Given the description of an element on the screen output the (x, y) to click on. 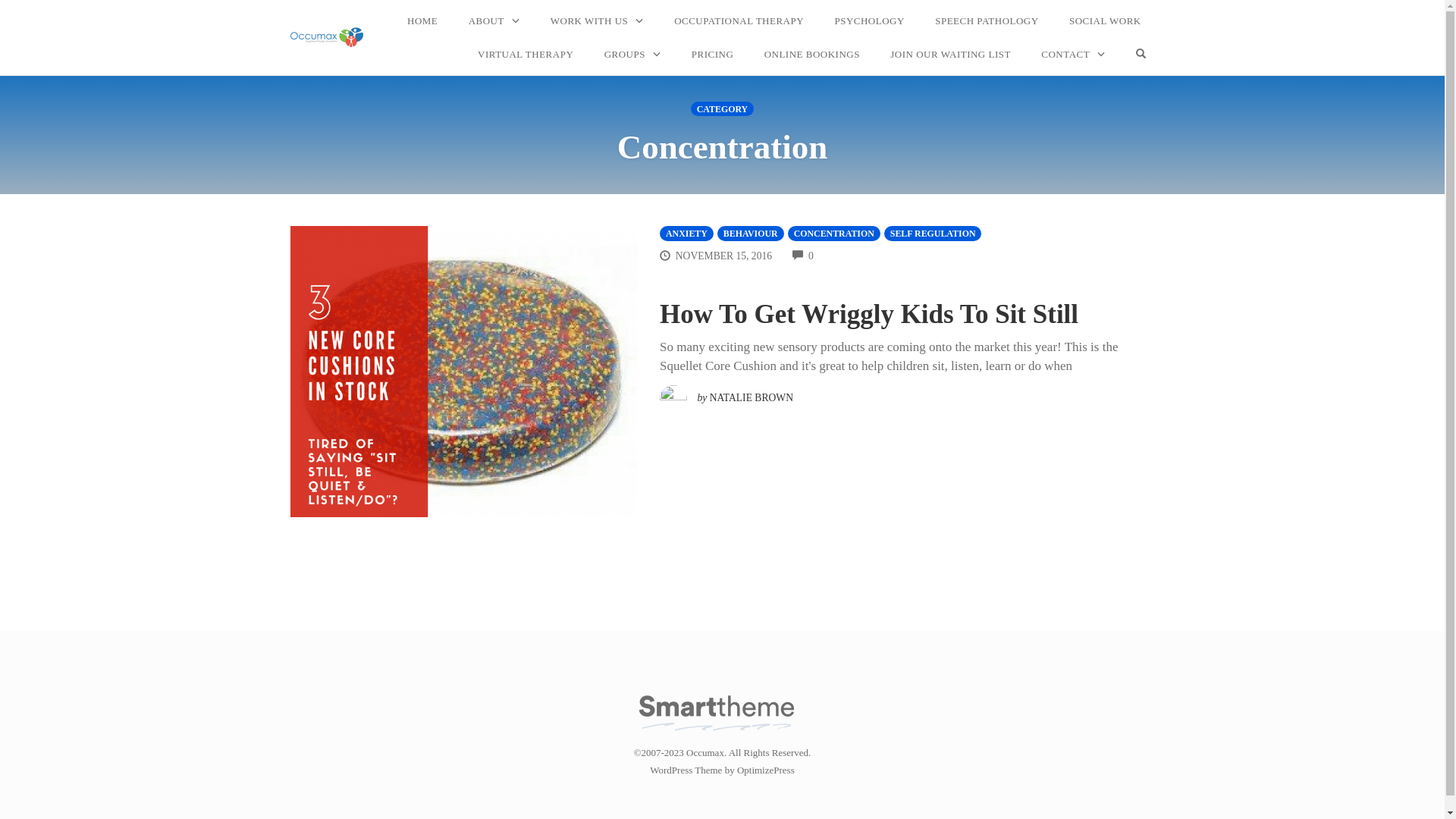
SPEECH PATHOLOGY Element type: text (986, 20)
JOIN OUR WAITING LIST Element type: text (950, 54)
OCCUPATIONAL THERAPY Element type: text (738, 20)
How To Get Wriggly Kids To Sit Still Element type: text (868, 314)
WORK WITH US Element type: text (597, 20)
GROUPS Element type: text (632, 54)
PRICING Element type: text (712, 54)
Occumax Element type: hover (716, 709)
OPEN SEARCH FORM Element type: text (1140, 54)
BEHAVIOUR Element type: text (750, 232)
ONLINE BOOKINGS Element type: text (812, 54)
CONTACT Element type: text (1072, 54)
by NATALIE BROWN Element type: text (726, 393)
ABOUT Element type: text (494, 20)
0
COMMENTS Element type: text (802, 255)
HOME Element type: text (421, 20)
VIRTUAL THERAPY Element type: text (525, 54)
ANXIETY Element type: text (686, 232)
Occumax Element type: hover (326, 37)
CONCENTRATION Element type: text (833, 232)
PSYCHOLOGY Element type: text (868, 20)
WordPress Theme by OptimizePress Element type: text (721, 770)
SOCIAL WORK Element type: text (1104, 20)
SELF REGULATION Element type: text (933, 232)
